Given the description of an element on the screen output the (x, y) to click on. 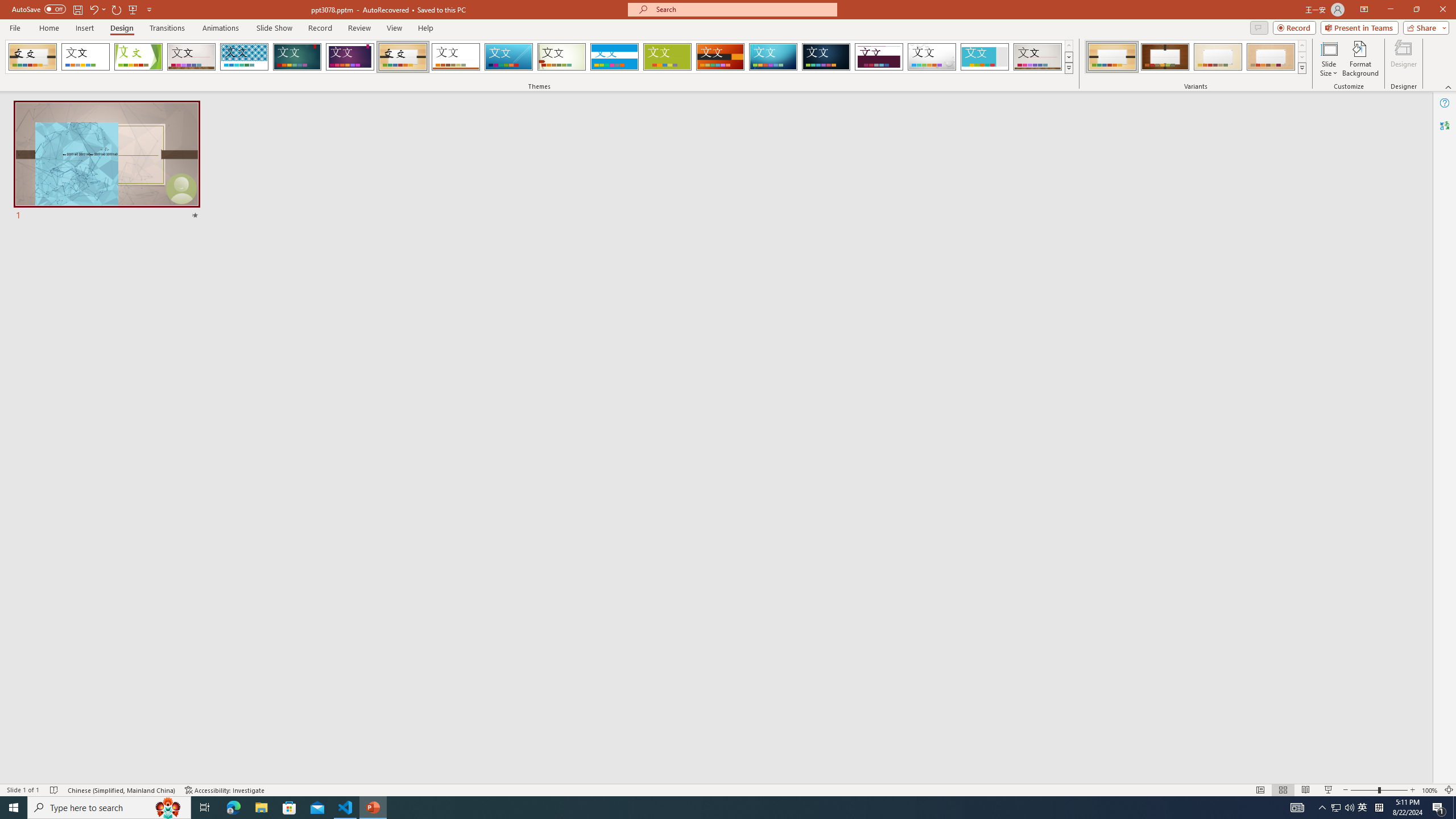
Format Background (1360, 58)
Zoom 100% (1430, 790)
Variants (1301, 67)
Organic Variant 4 (1270, 56)
Organic Variant 3 (1217, 56)
Retrospect (455, 56)
Dividend (879, 56)
Themes (1068, 67)
Damask (826, 56)
